Given the description of an element on the screen output the (x, y) to click on. 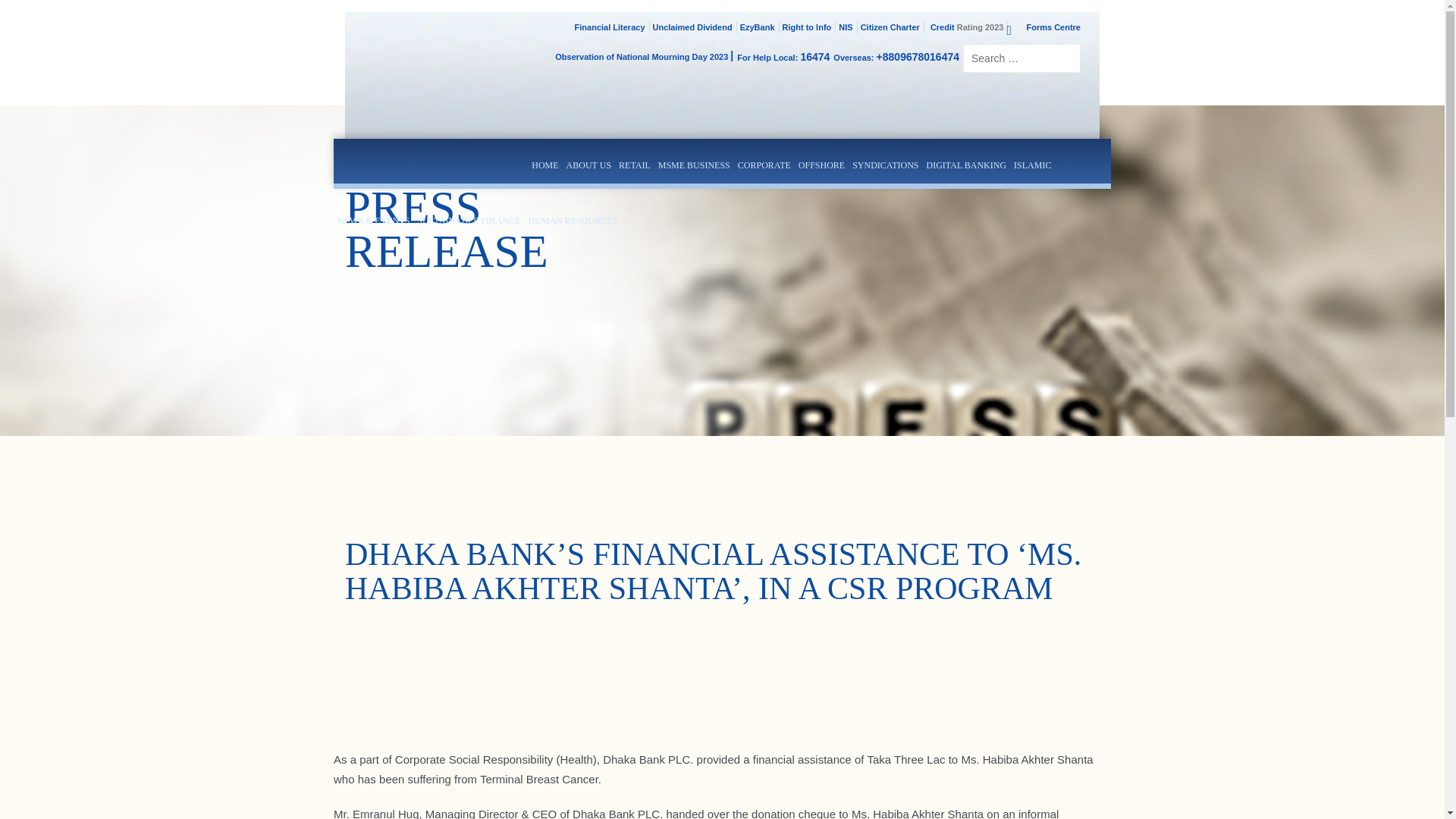
Search (1047, 57)
Search (1047, 57)
